Given the description of an element on the screen output the (x, y) to click on. 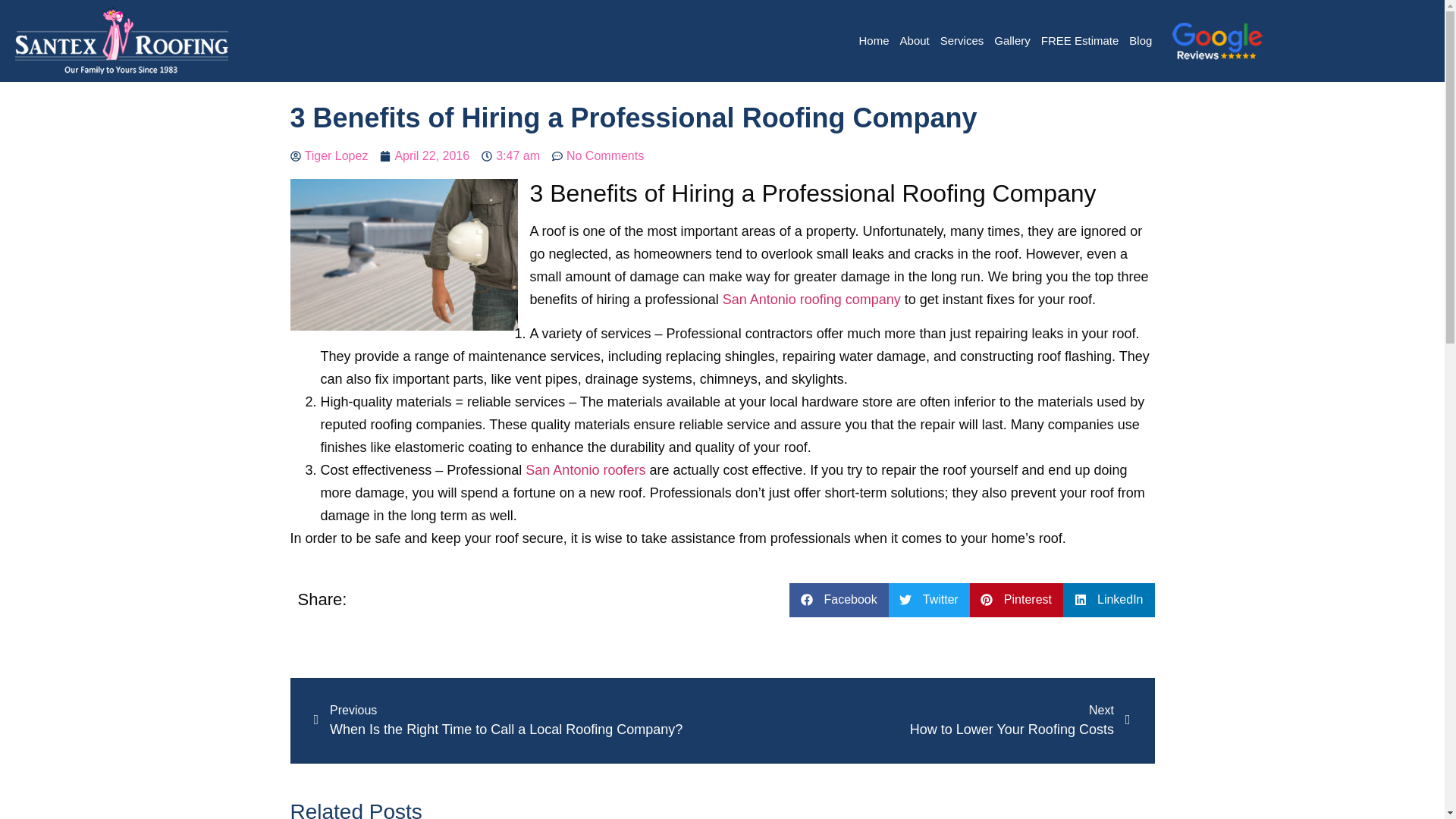
Gallery (1012, 40)
April 22, 2016 (424, 156)
FREE Estimate (1080, 40)
Services (926, 720)
San Antonio roofing company (962, 40)
Tiger Lopez (811, 299)
No Comments (328, 156)
San Antonio roofers (597, 156)
